Given the description of an element on the screen output the (x, y) to click on. 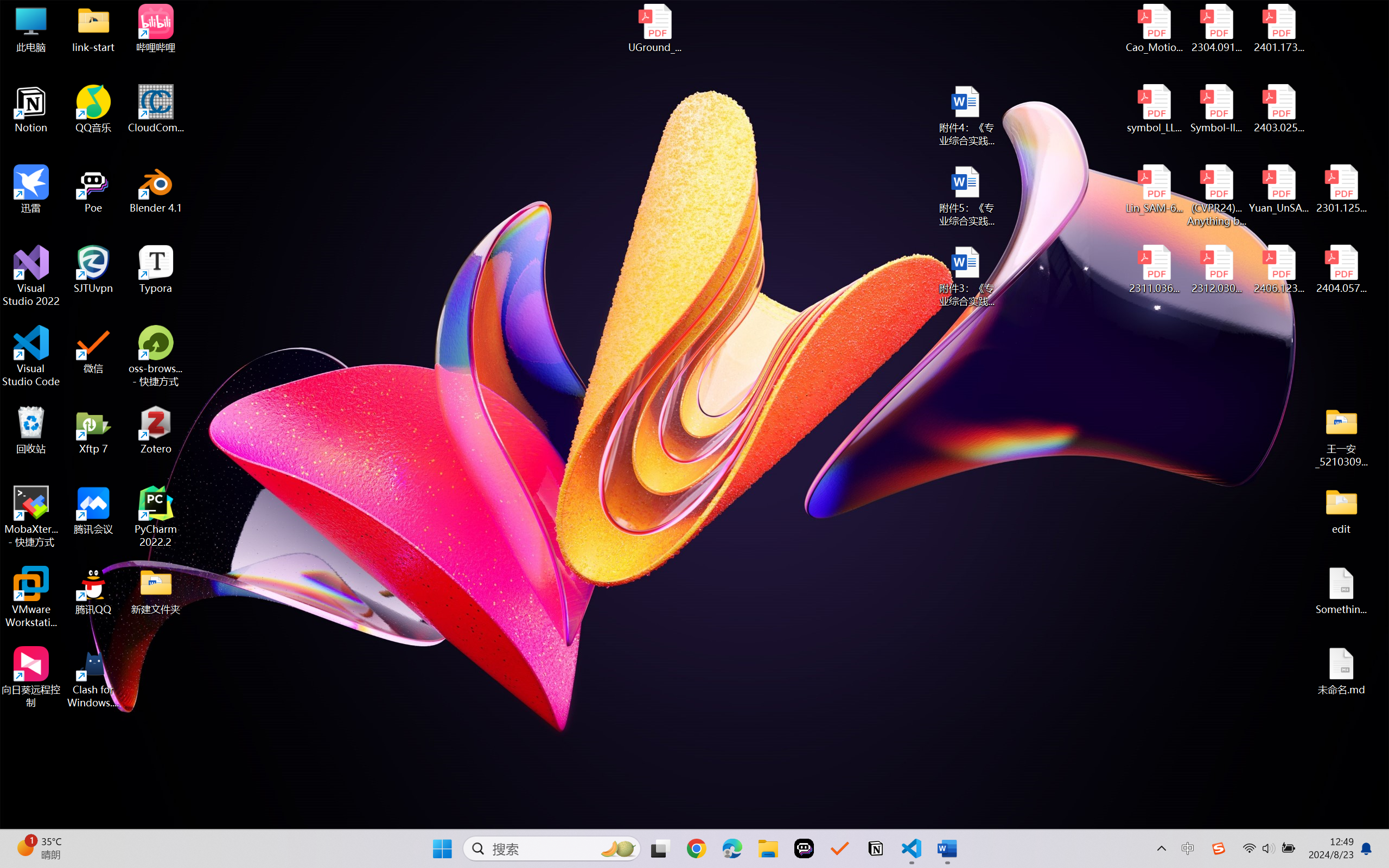
symbol_LLM.pdf (1154, 109)
2304.09121v3.pdf (1216, 28)
2401.17399v1.pdf (1278, 28)
Symbol-llm-v2.pdf (1216, 109)
